Given the description of an element on the screen output the (x, y) to click on. 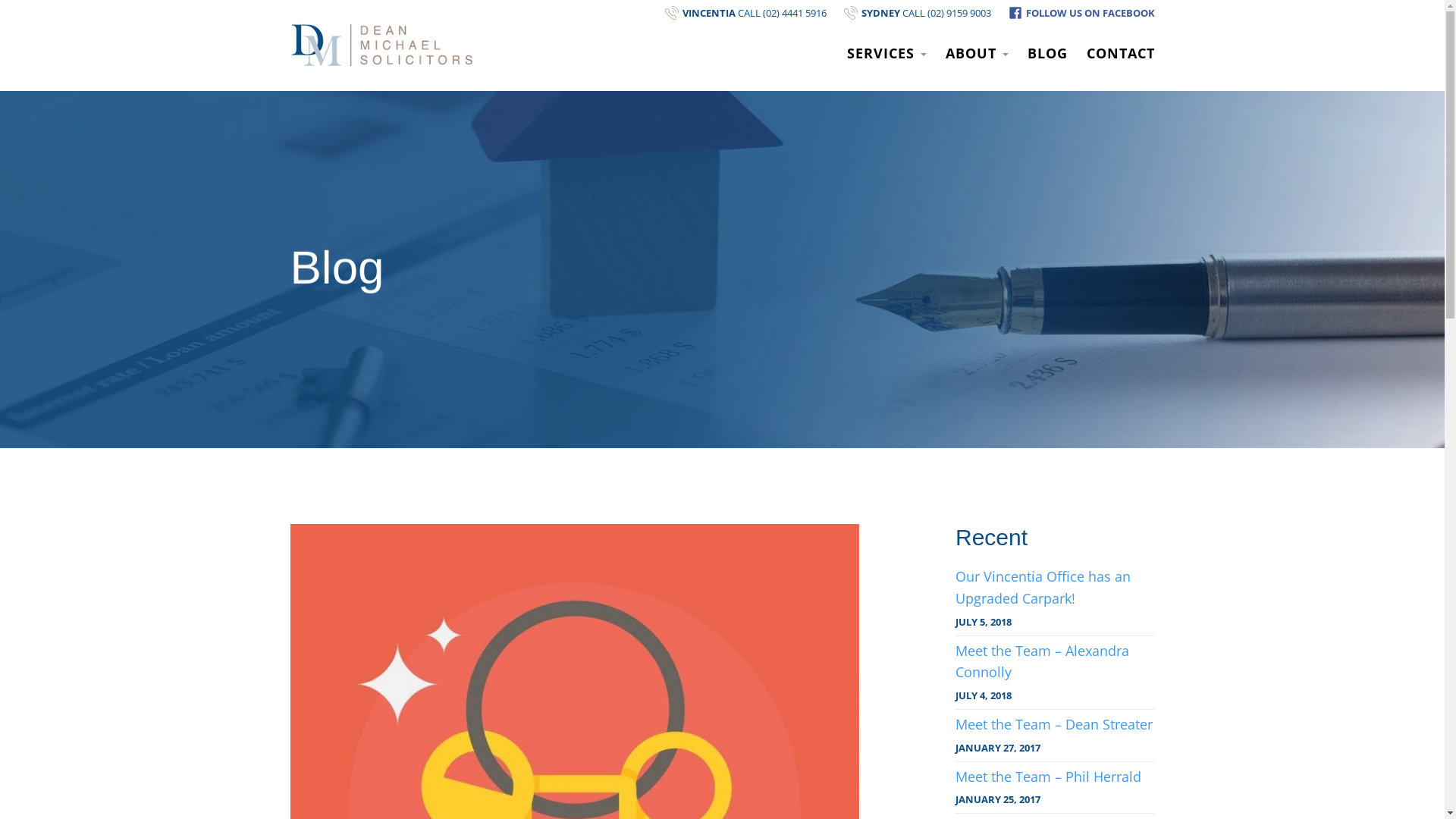
SYDNEY CALL (02) 9159 9003 Element type: text (909, 11)
CONTACT Element type: text (1116, 52)
VINCENTIA CALL (02) 4441 5916 Element type: text (737, 11)
SERVICES Element type: text (885, 52)
FOLLOW US ON FACEBOOK Element type: text (1073, 11)
ABOUT Element type: text (976, 52)
Our Vincentia Office has an Upgraded Carpark! Element type: text (1054, 587)
BLOG Element type: text (1046, 52)
